Given the description of an element on the screen output the (x, y) to click on. 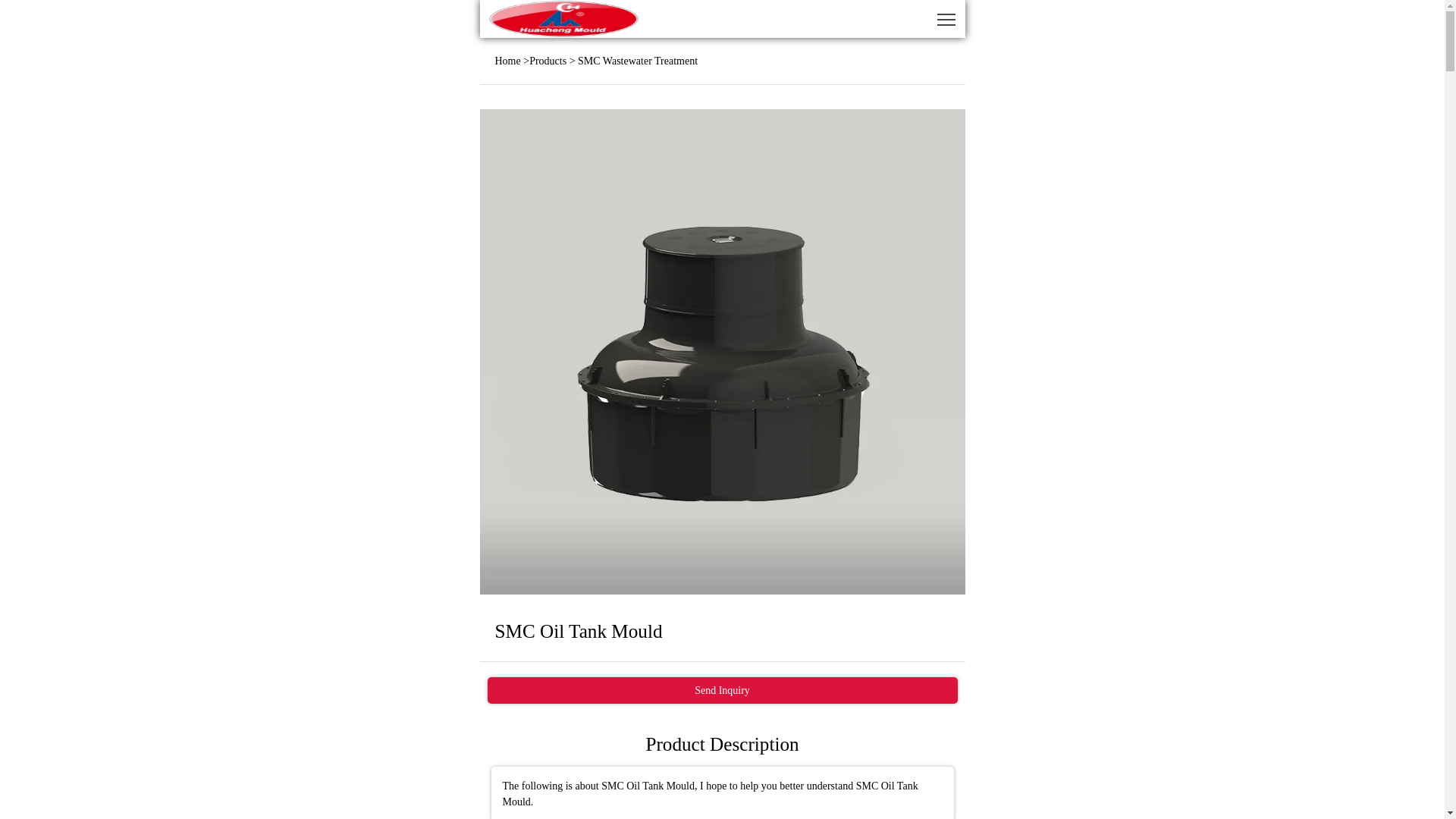
Products (547, 60)
Products (547, 60)
Taizhou Huacheng Mould Co.,Ltd. (562, 18)
Home (507, 60)
SMC Wastewater Treatment (637, 60)
Home (507, 60)
Send Inquiry (721, 690)
